Given the description of an element on the screen output the (x, y) to click on. 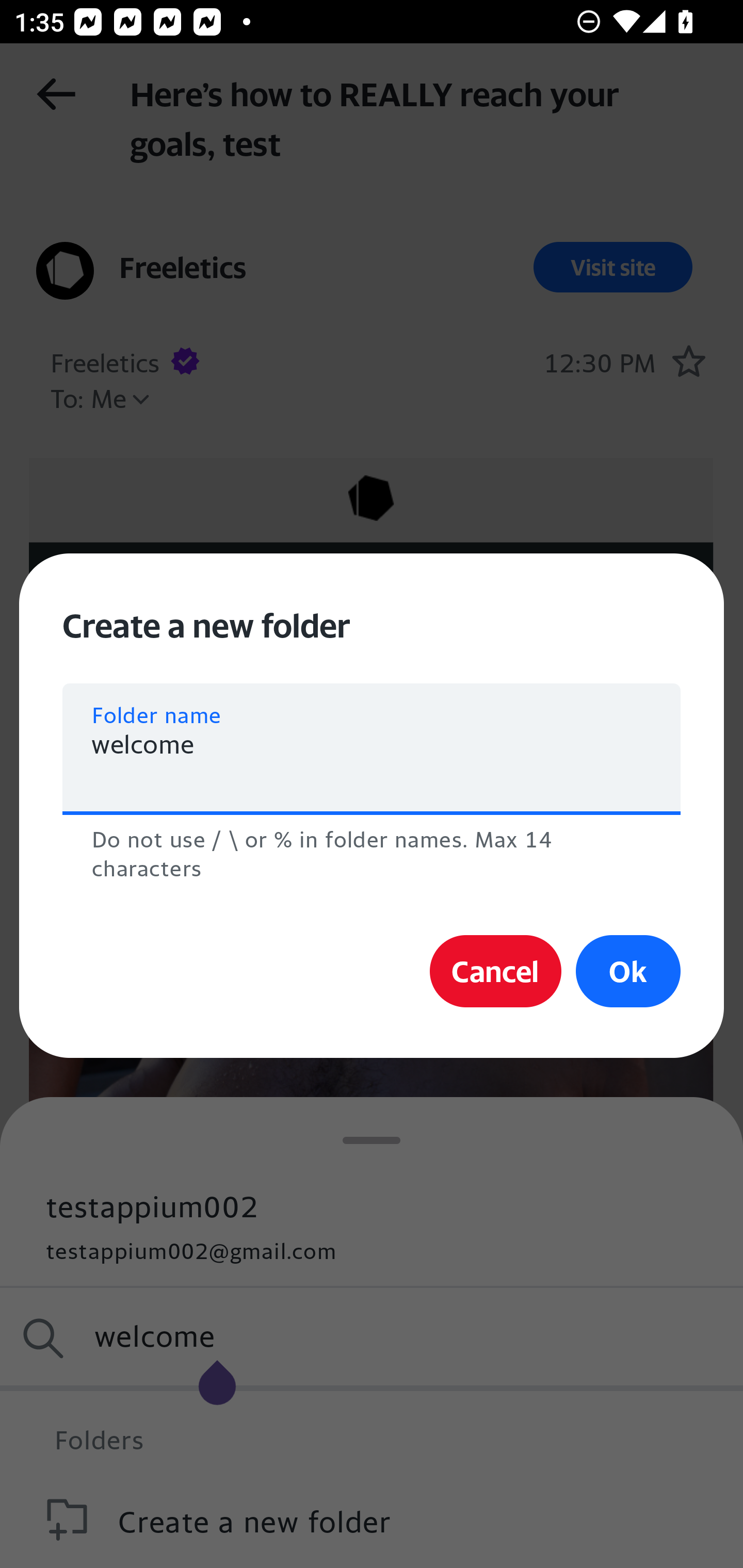
Cancel (495, 971)
Ok (627, 971)
